Given the description of an element on the screen output the (x, y) to click on. 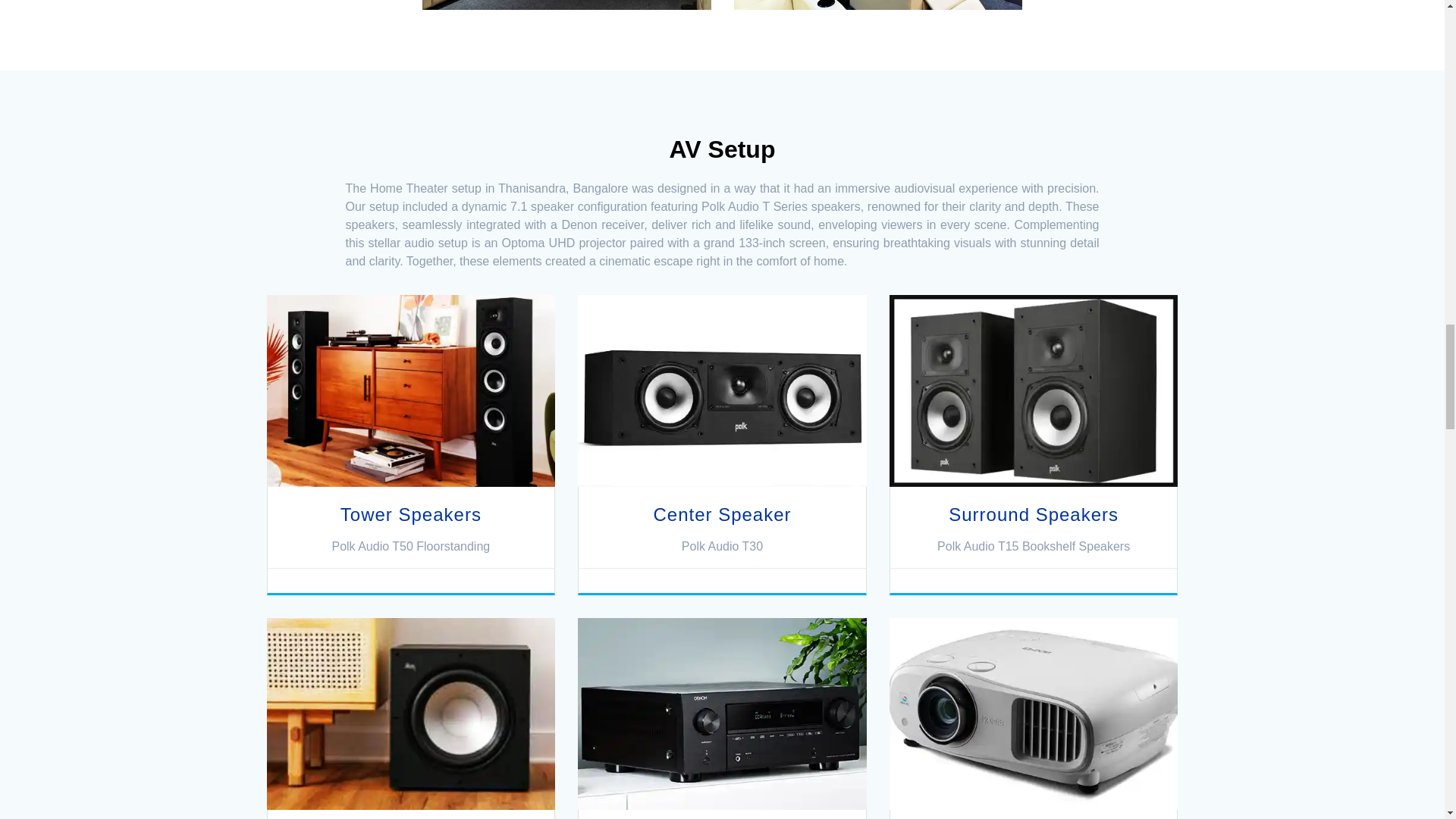
POLK AUDIO Monitor XT12 High Performance Powered Subwoofer (411, 713)
POLK AUDIO Monitor XT30 Hi-Resolution Center Channel Speaker (722, 390)
Projector Epson EH TW 7100 3LCD 4K PRO (1033, 713)
Denon AVC X3700H 9.2ch 8K AV Reciever (722, 713)
